Given the description of an element on the screen output the (x, y) to click on. 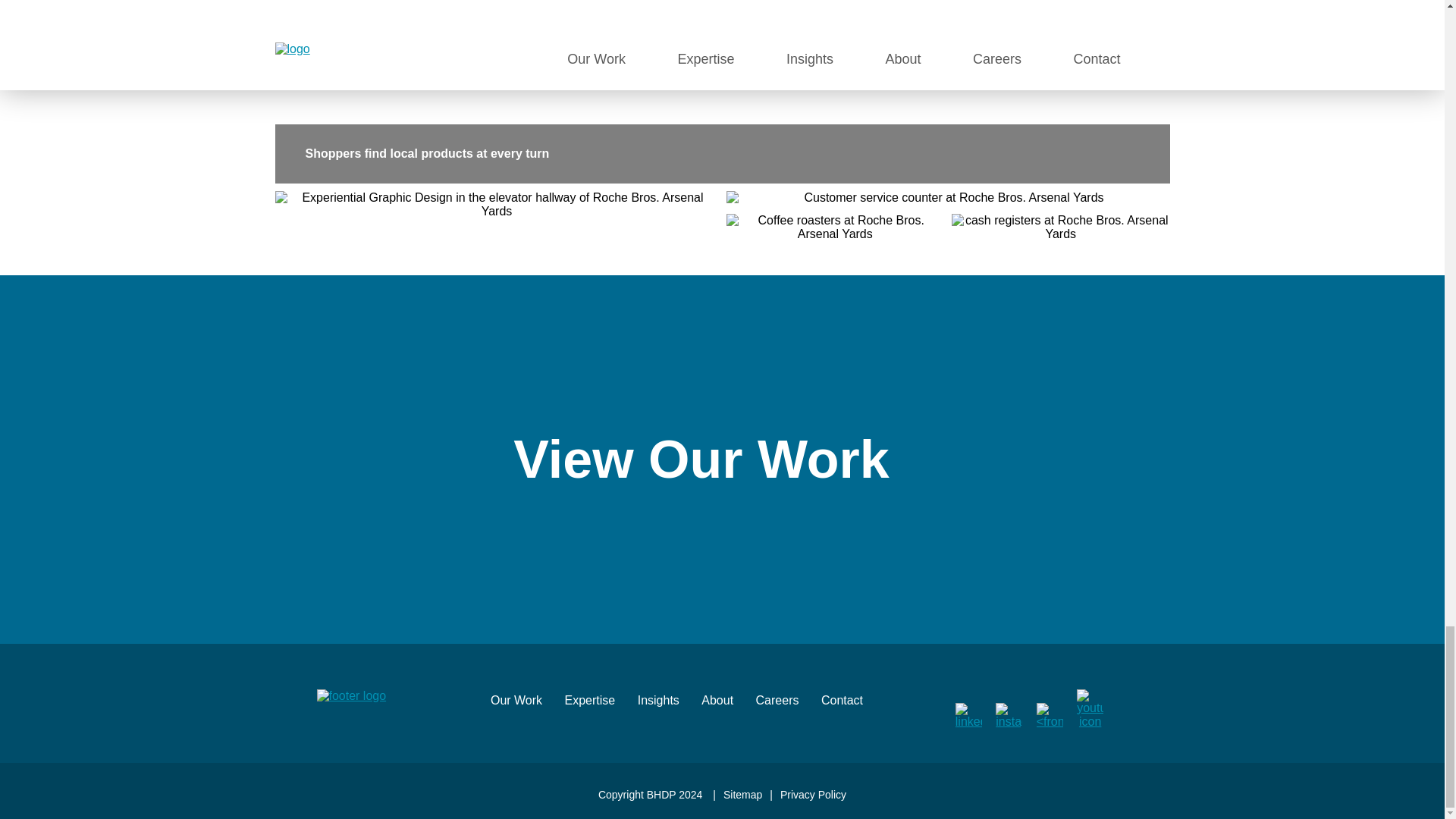
Contact (851, 706)
About (726, 706)
Careers (786, 706)
View Our Work (721, 459)
Insights (667, 706)
Our Work (525, 706)
Expertise (599, 706)
